Given the description of an element on the screen output the (x, y) to click on. 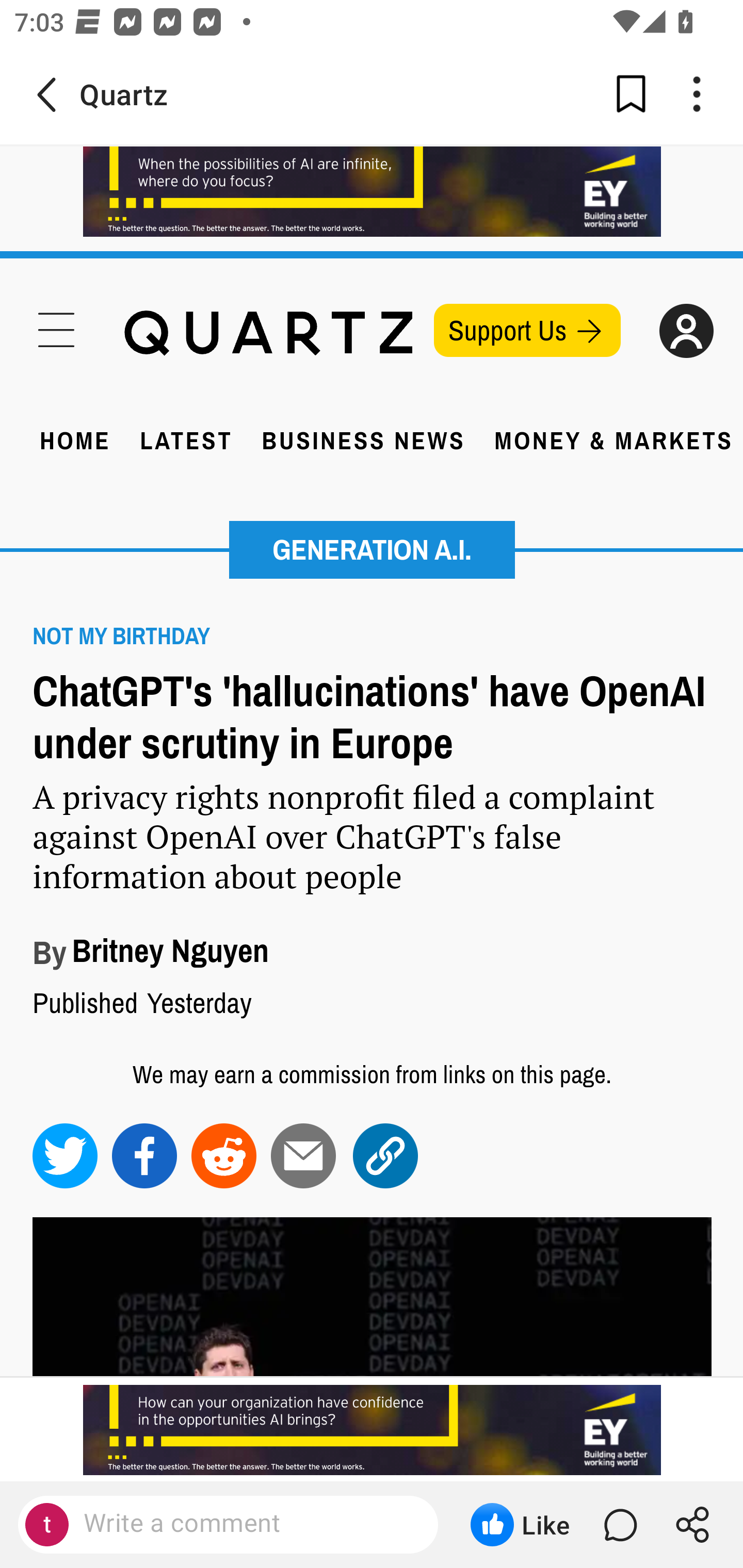
Hamburger24 icon (55, 328)
login (685, 330)
Support Us Arrow-right icon (527, 329)
Quartz (267, 332)
HOME (75, 439)
LATEST (186, 439)
BUSINESS NEWS (362, 439)
MONEY & MARKETS (612, 439)
GENERATION A.I. (371, 550)
Britney Nguyen (170, 950)
Share to Twitter (65, 1155)
Share to Facebook (145, 1155)
Share to Reddit (223, 1155)
Share via Email (304, 1155)
Share via Link (386, 1155)
Like (519, 1524)
Write a comment (245, 1523)
